Given the description of an element on the screen output the (x, y) to click on. 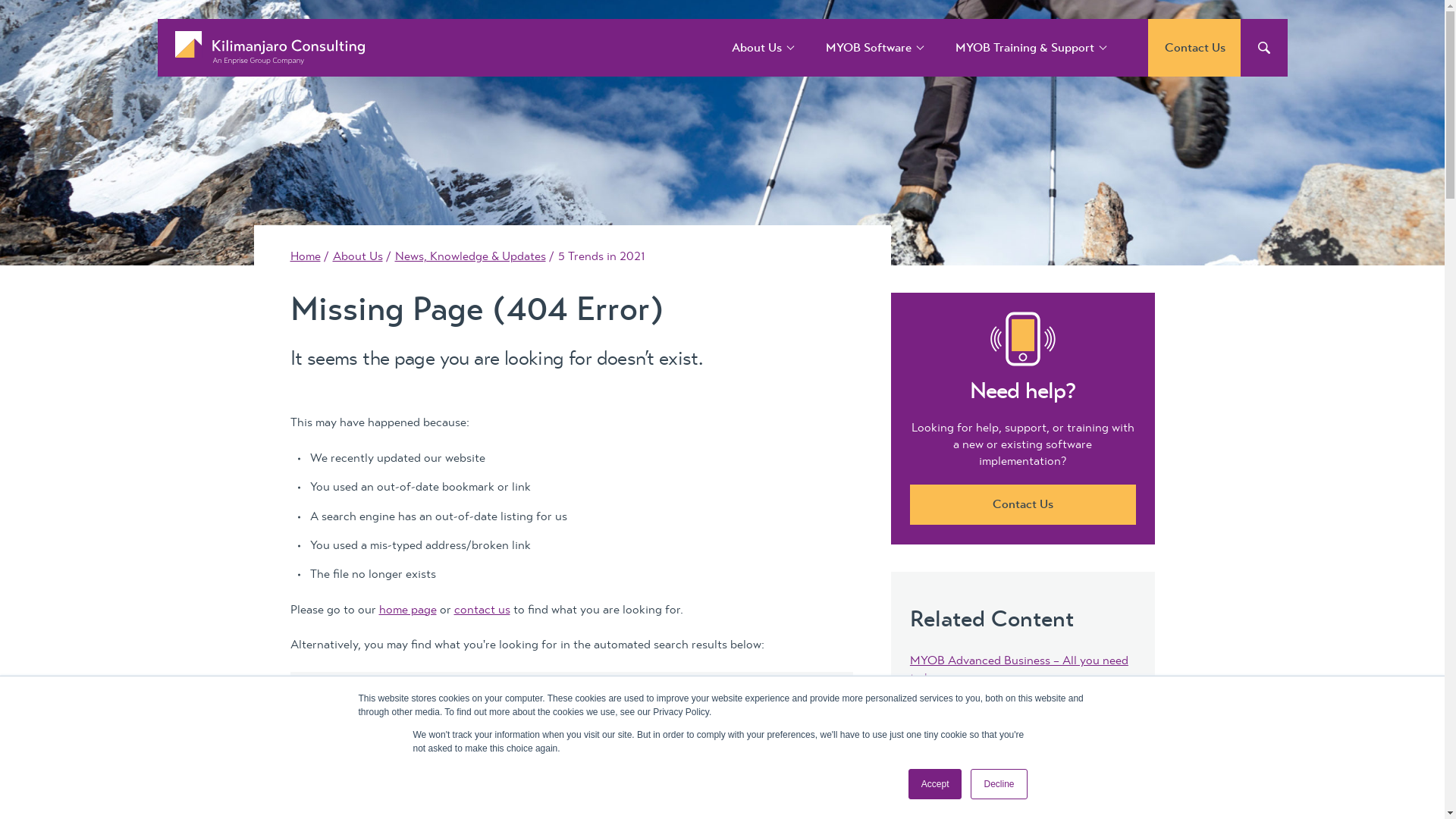
MYOB Software Element type: text (868, 47)
Home Element type: text (304, 255)
News, Knowledge & Updates Element type: text (469, 255)
contact us Element type: text (481, 609)
Decline Element type: text (998, 783)
MYOB Training & Support Element type: text (1023, 47)
Contact Us Element type: text (1195, 47)
About Us Element type: text (357, 255)
Accept Element type: text (935, 783)
About Us Element type: text (756, 47)
home page Element type: text (407, 609)
submit Element type: text (23, 19)
Contact Us Element type: text (1022, 504)
Hosted vs SaaS Solutions: Which one should I choose? Element type: text (1008, 757)
